Given the description of an element on the screen output the (x, y) to click on. 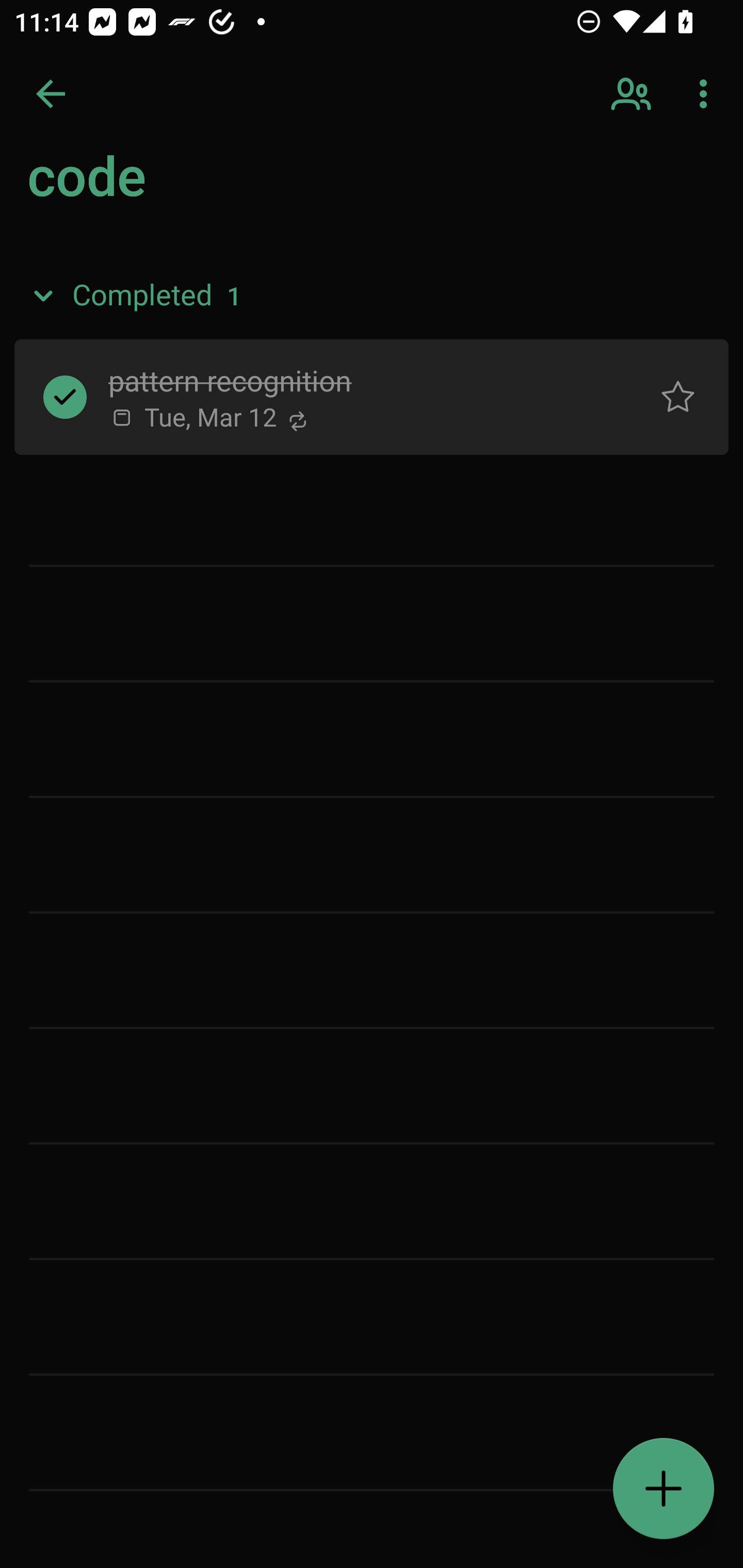
Back (50, 93)
Sharing options (632, 93)
More options (706, 93)
My Day, 0 tasks (182, 187)
Completed, 1 item, Expanded Completed 1 (371, 295)
Completed task pattern recognition, Button (64, 397)
Normal task pattern recognition, Button (677, 397)
Add a task (663, 1488)
